Given the description of an element on the screen output the (x, y) to click on. 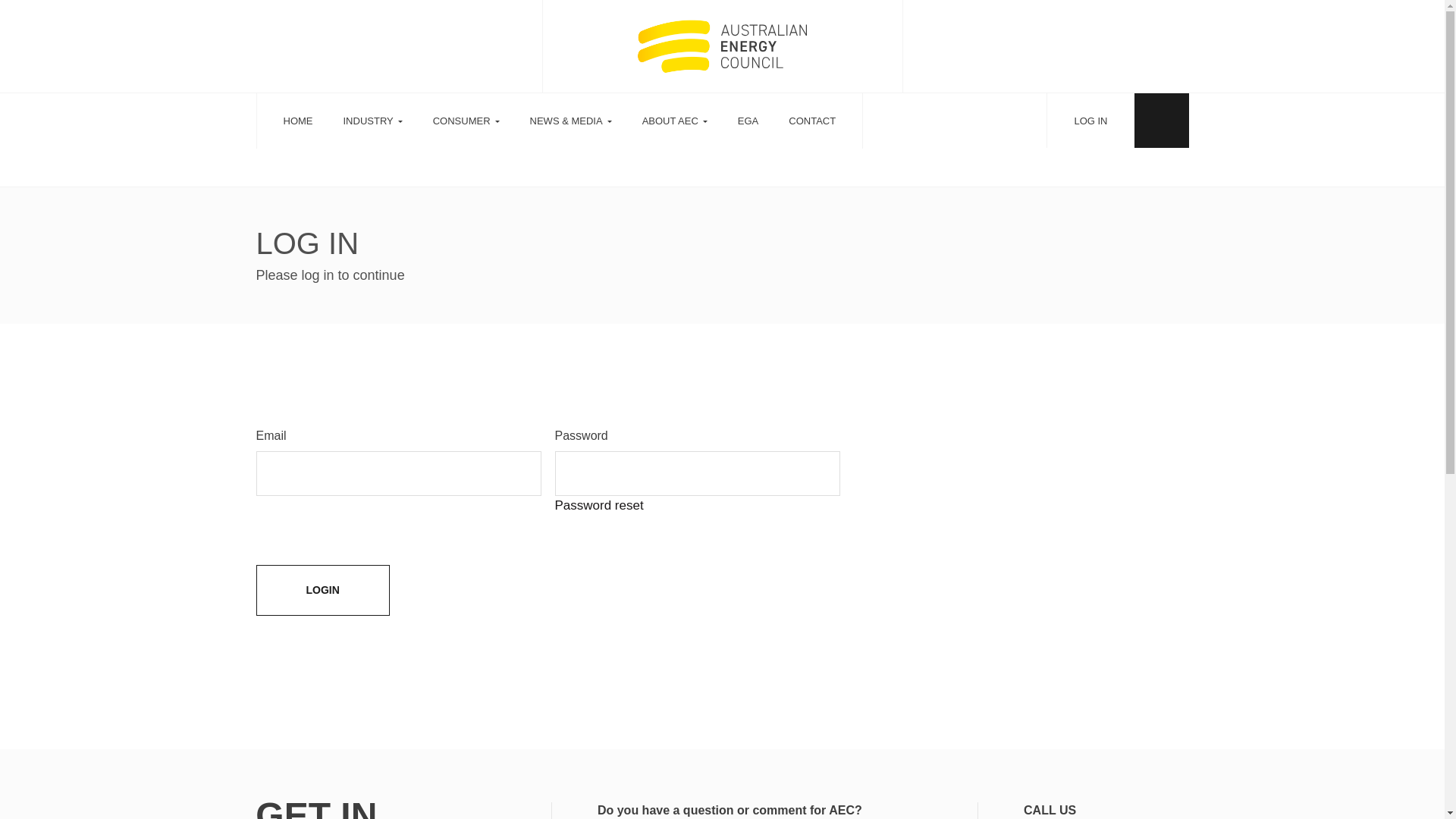
ABOUT AEC Element type: text (674, 120)
EGA Element type: text (747, 120)
Login Element type: text (322, 589)
CONSUMER Element type: text (465, 120)
Password reset Element type: text (599, 504)
CONTACT Element type: text (811, 120)
INDUSTRY Element type: text (372, 120)
HOME Element type: text (298, 120)
NEWS & MEDIA Element type: text (570, 120)
LOG IN Element type: text (1090, 120)
